Given the description of an element on the screen output the (x, y) to click on. 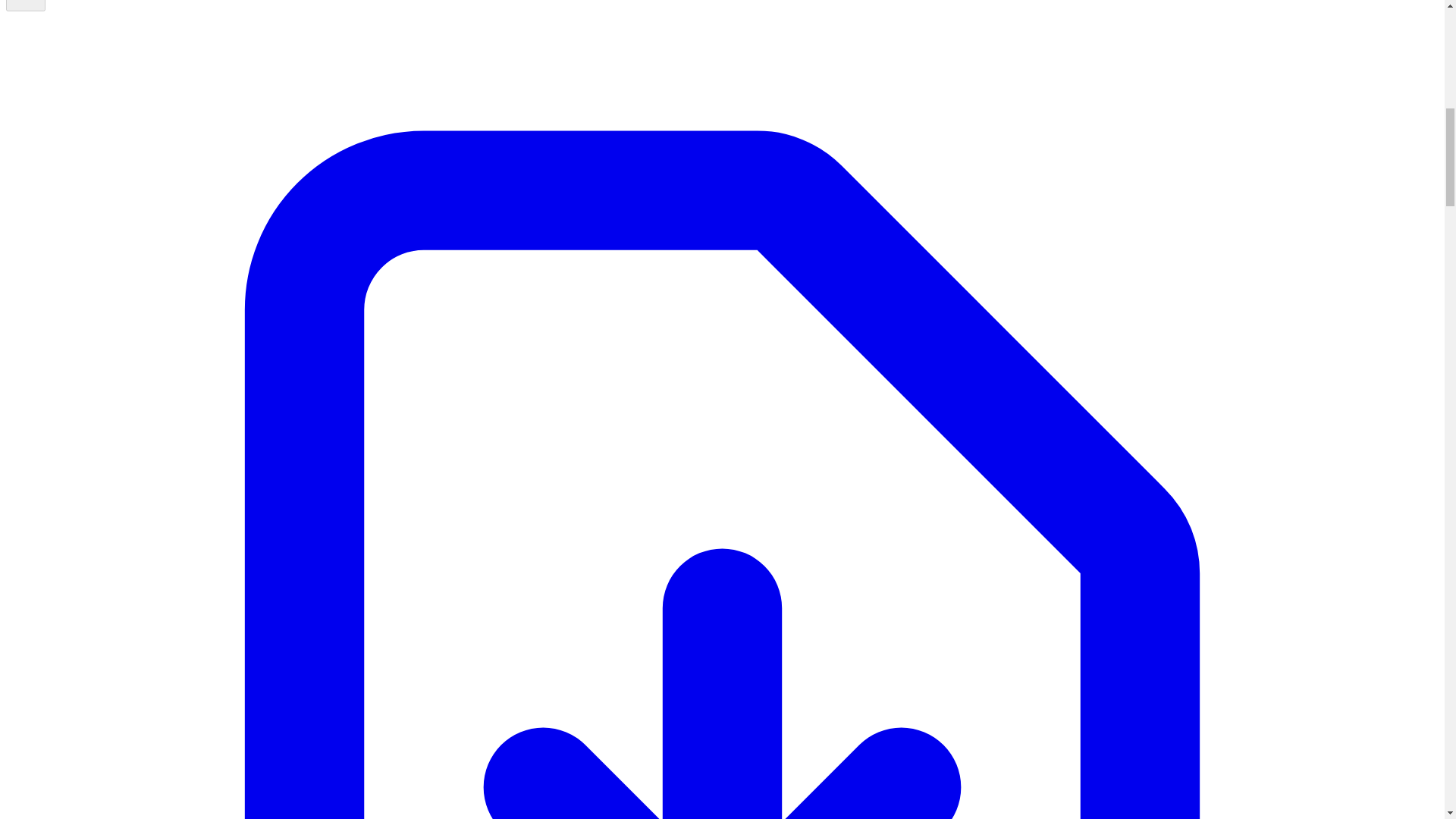
Share (25, 5)
